Given the description of an element on the screen output the (x, y) to click on. 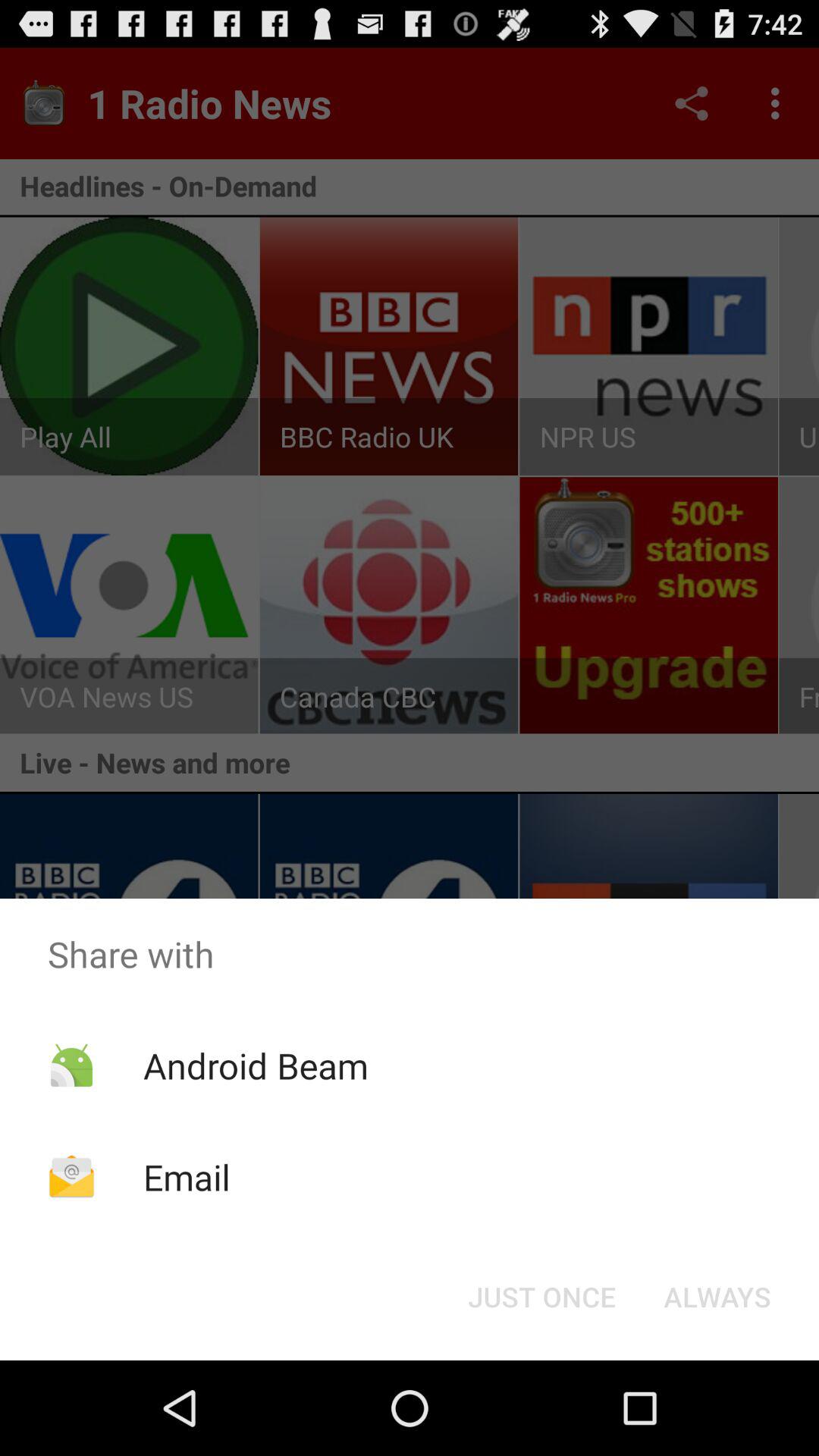
choose the icon next to always button (541, 1296)
